Given the description of an element on the screen output the (x, y) to click on. 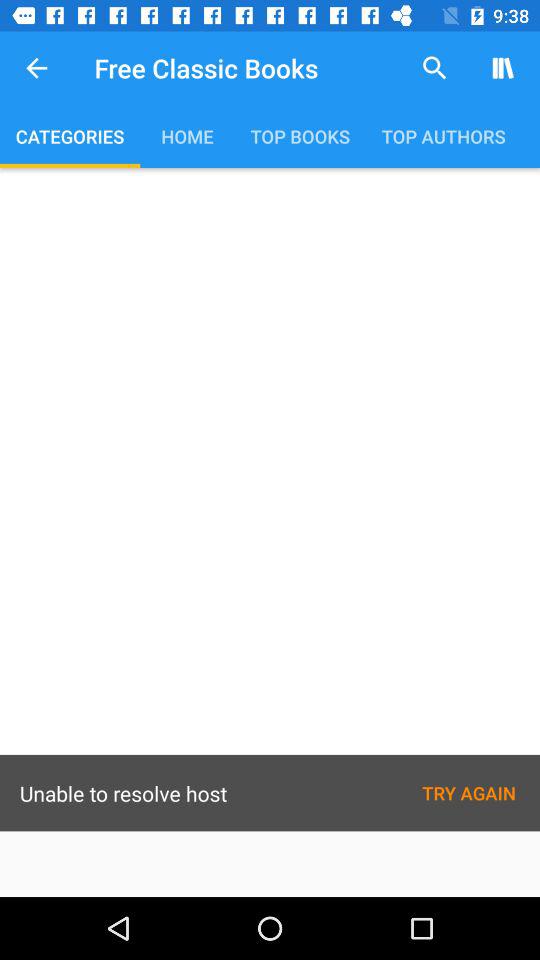
select the text try again (468, 793)
go to the tab named as home (186, 136)
